Given the description of an element on the screen output the (x, y) to click on. 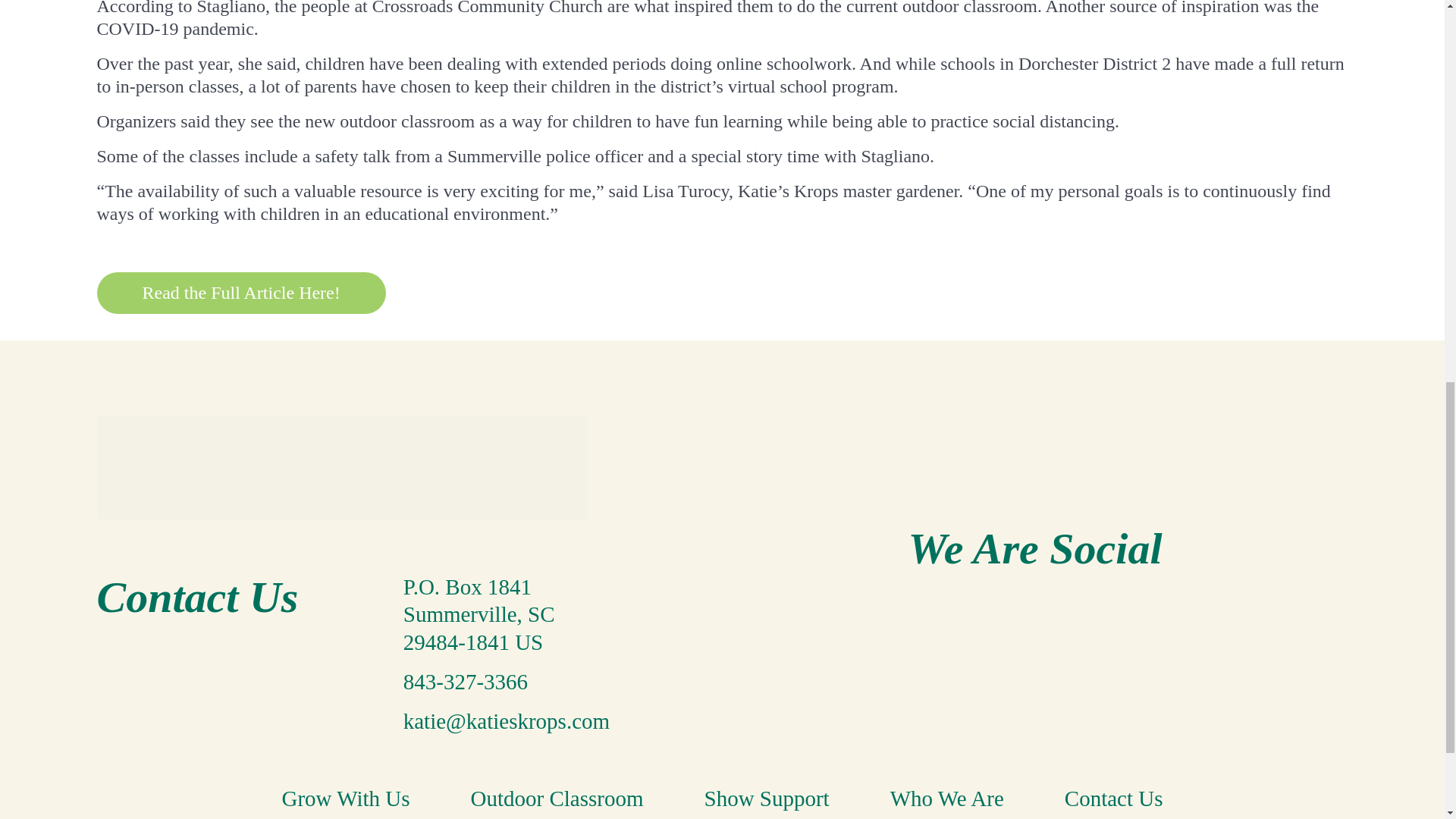
Read the Full Article Here! (241, 292)
843-327-3366 (465, 681)
Show Support (766, 798)
Who We Are (946, 798)
Outdoor Classroom (556, 798)
Grow With Us (345, 798)
